Given the description of an element on the screen output the (x, y) to click on. 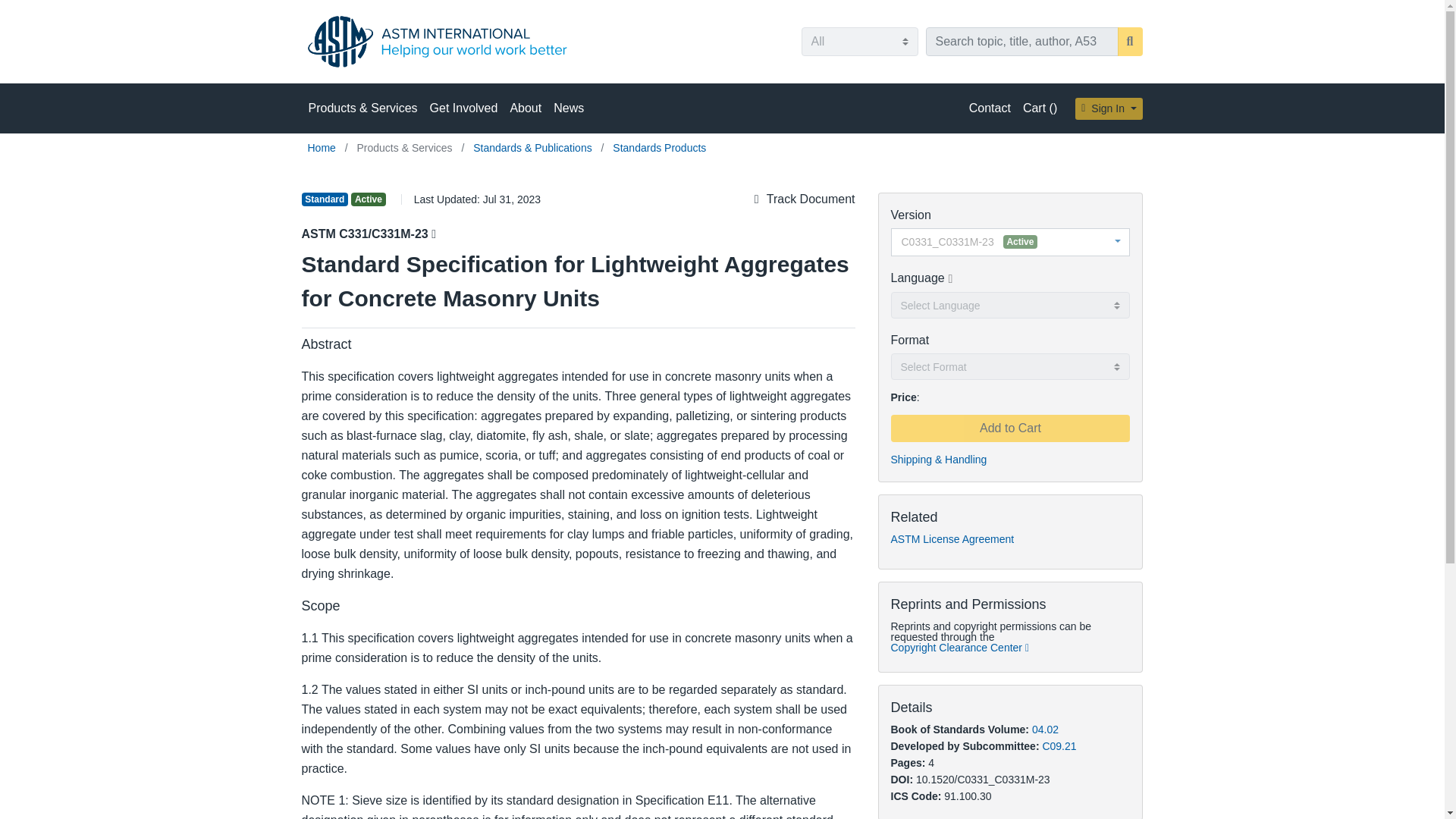
All (858, 41)
Add to Cart (1009, 428)
Go to Home Page (323, 147)
